Given the description of an element on the screen output the (x, y) to click on. 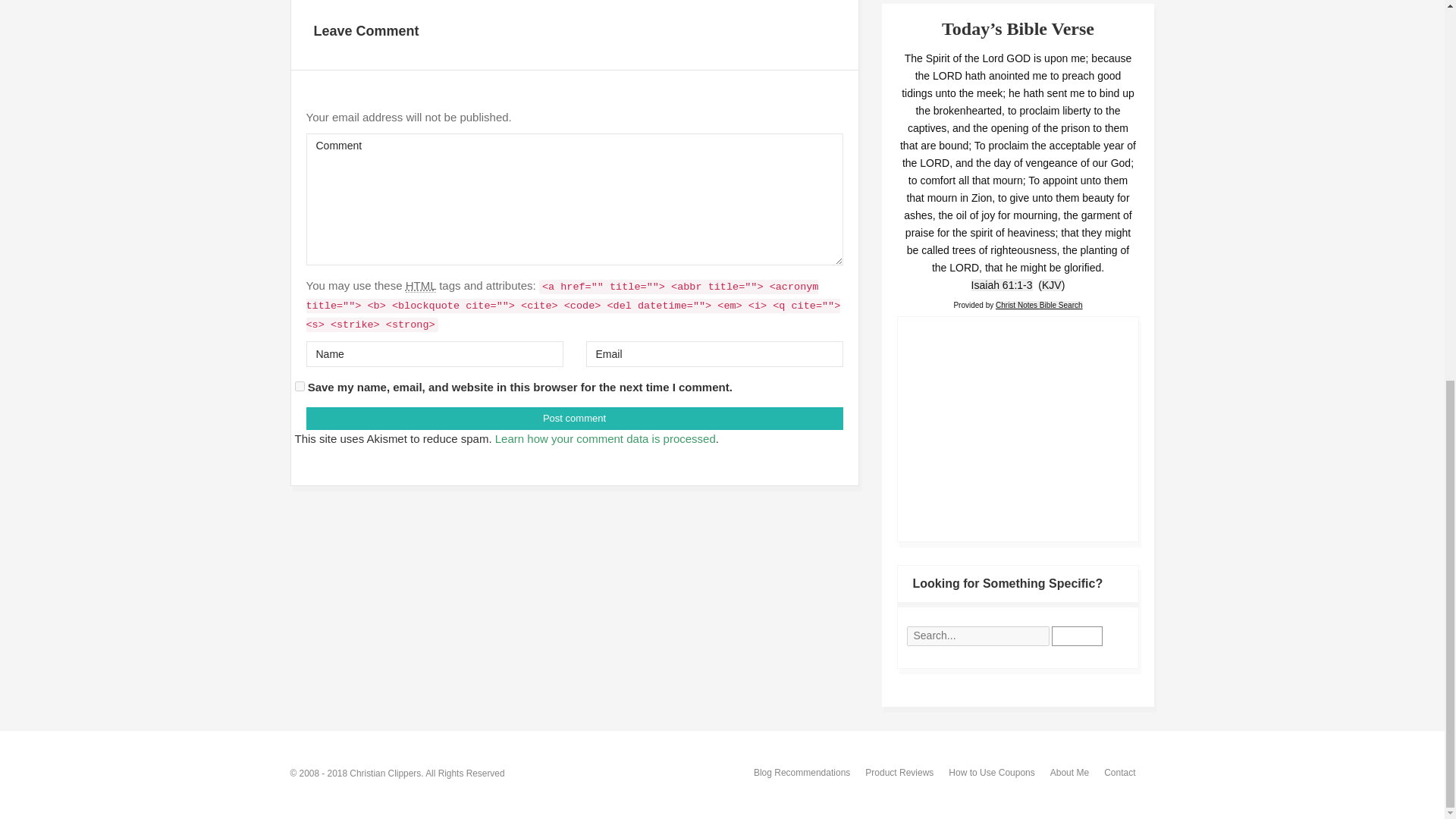
Search (1076, 636)
Post comment (574, 418)
yes (299, 386)
